Given the description of an element on the screen output the (x, y) to click on. 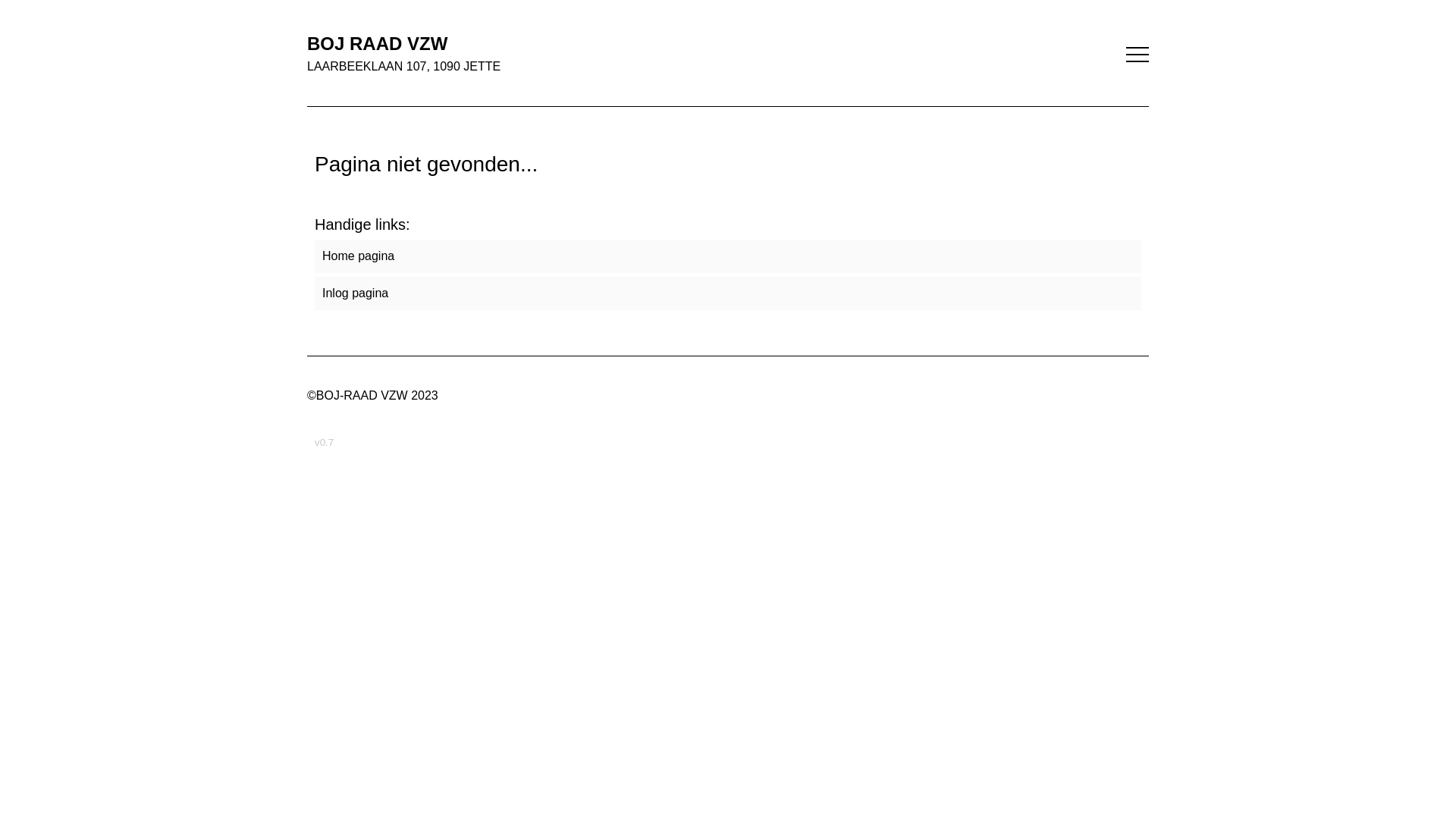
Home pagina Element type: text (727, 256)
BOJ RAAD VZW Element type: text (727, 43)
Inlog pagina Element type: text (727, 293)
